Given the description of an element on the screen output the (x, y) to click on. 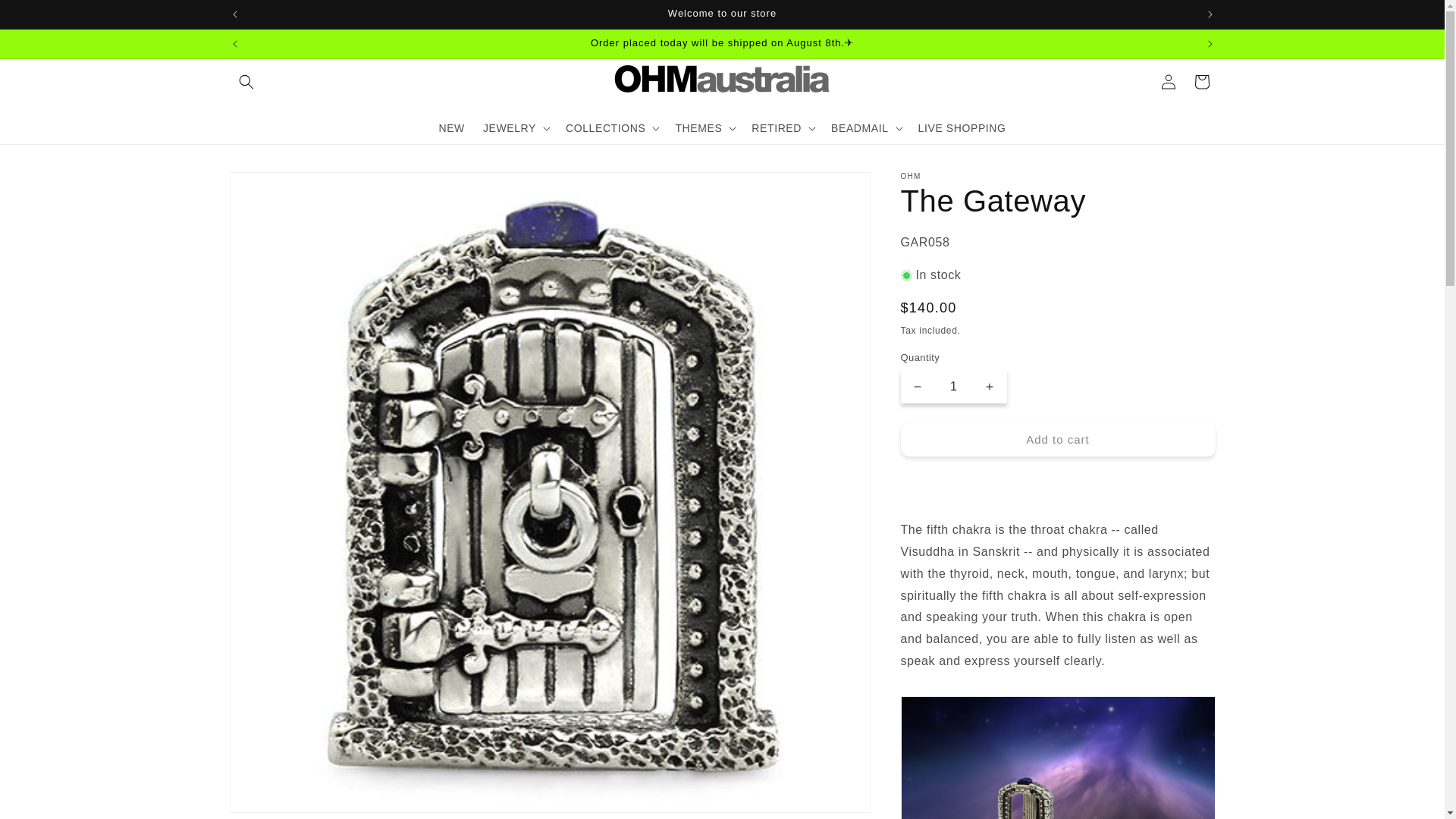
Skip to content (45, 16)
1 (953, 386)
